Given the description of an element on the screen output the (x, y) to click on. 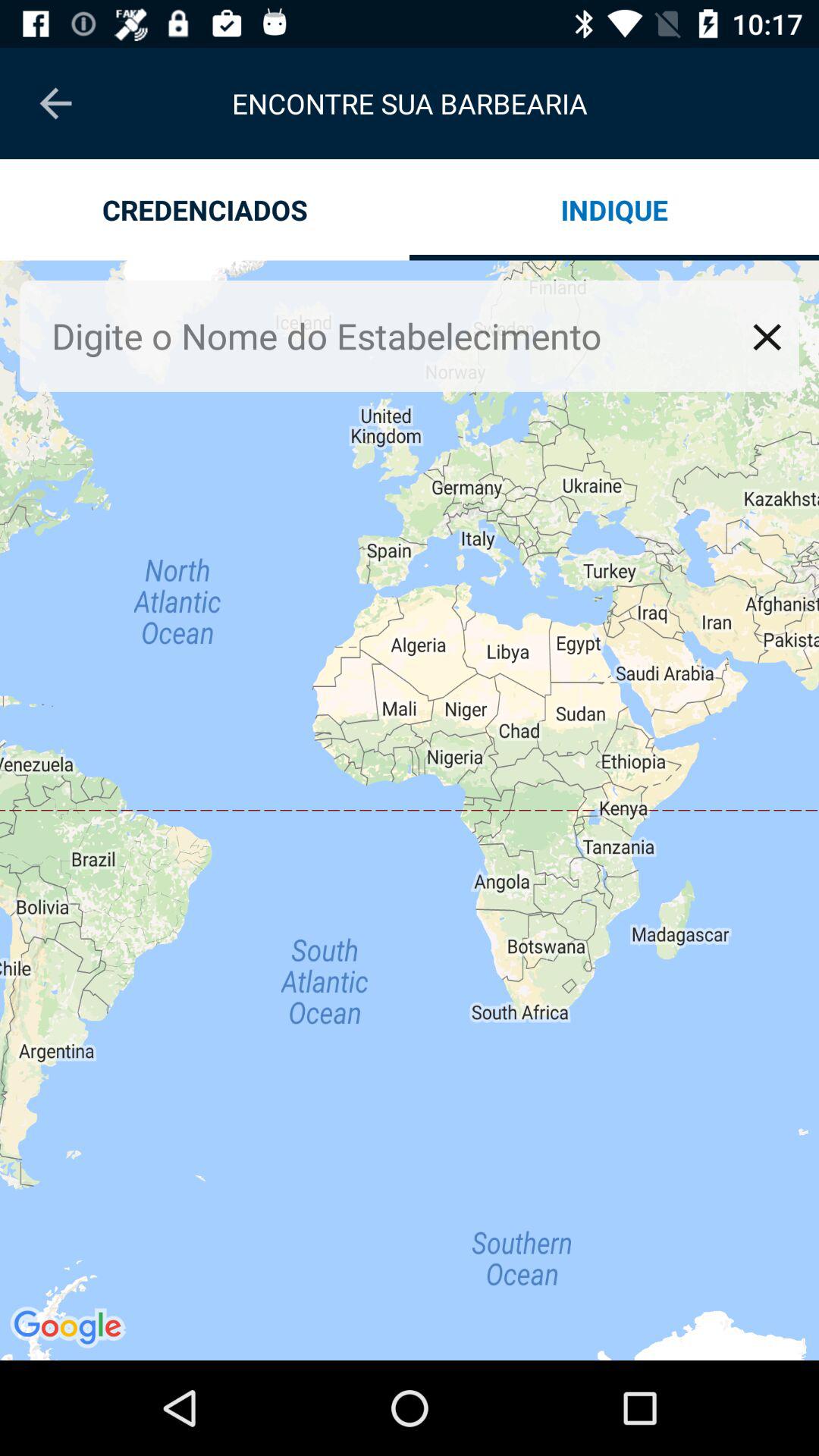
open the indique app (614, 209)
